Given the description of an element on the screen output the (x, y) to click on. 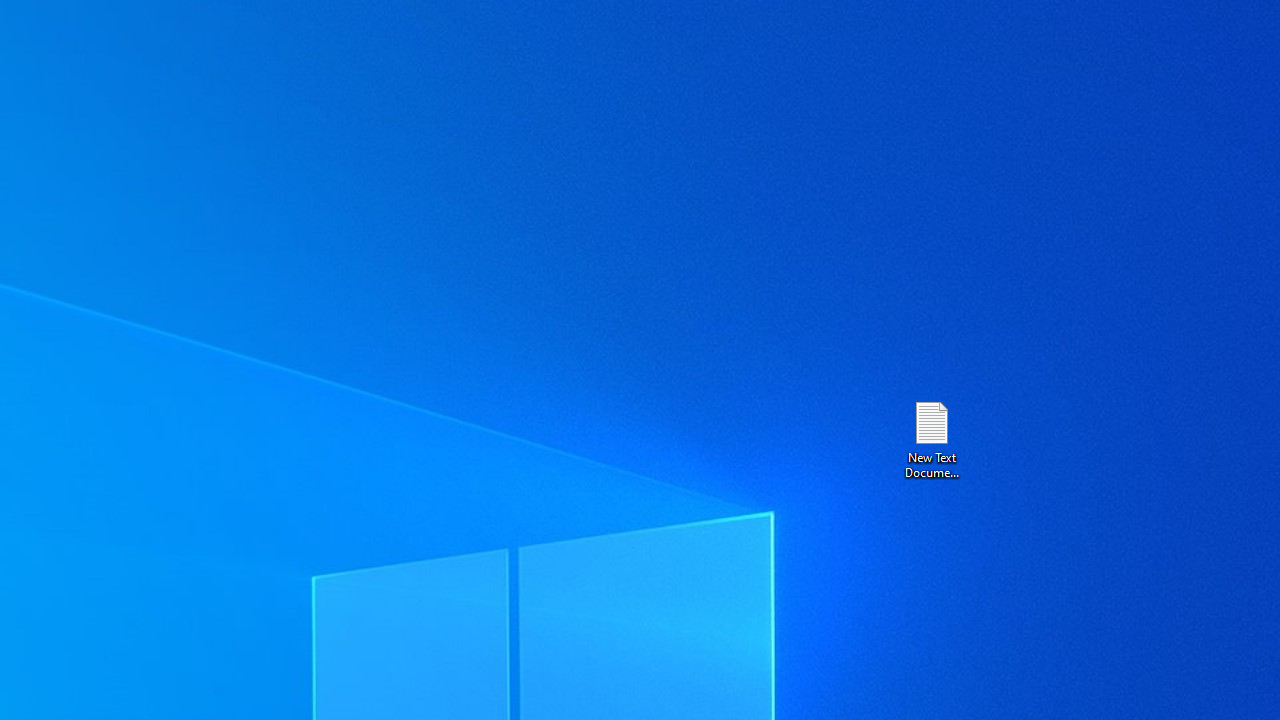
New Text Document (2) (931, 438)
